Given the description of an element on the screen output the (x, y) to click on. 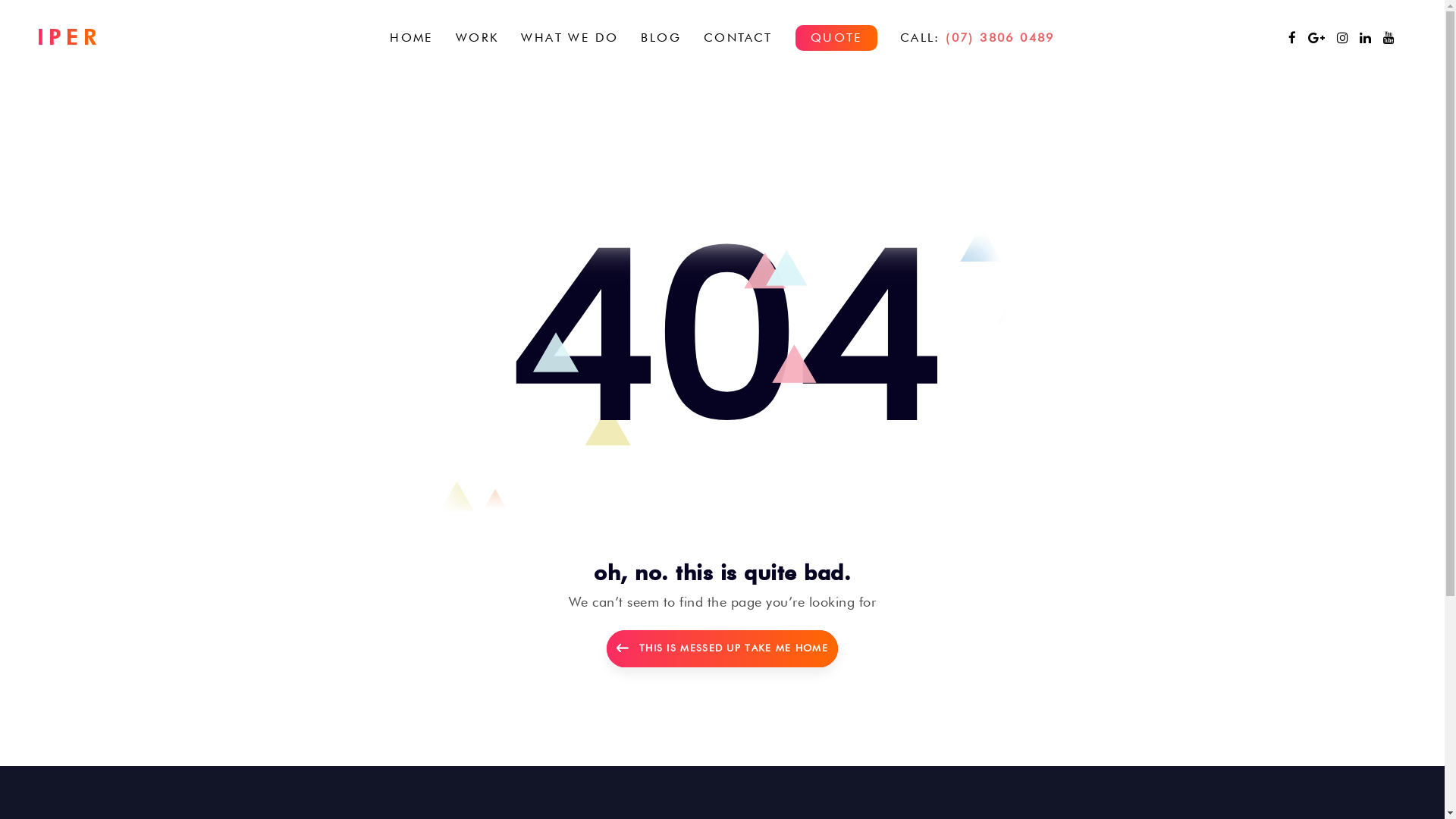
THIS IS MESSED UP TAKE ME HOME Element type: text (721, 648)
QUOTE Element type: text (836, 37)
BLOG Element type: text (660, 37)
CALL: (07) 3806 0489 Element type: text (977, 37)
WHAT WE DO Element type: text (569, 37)
WORK Element type: text (477, 37)
HOME Element type: text (411, 37)
CONTACT Element type: text (738, 37)
